Given the description of an element on the screen output the (x, y) to click on. 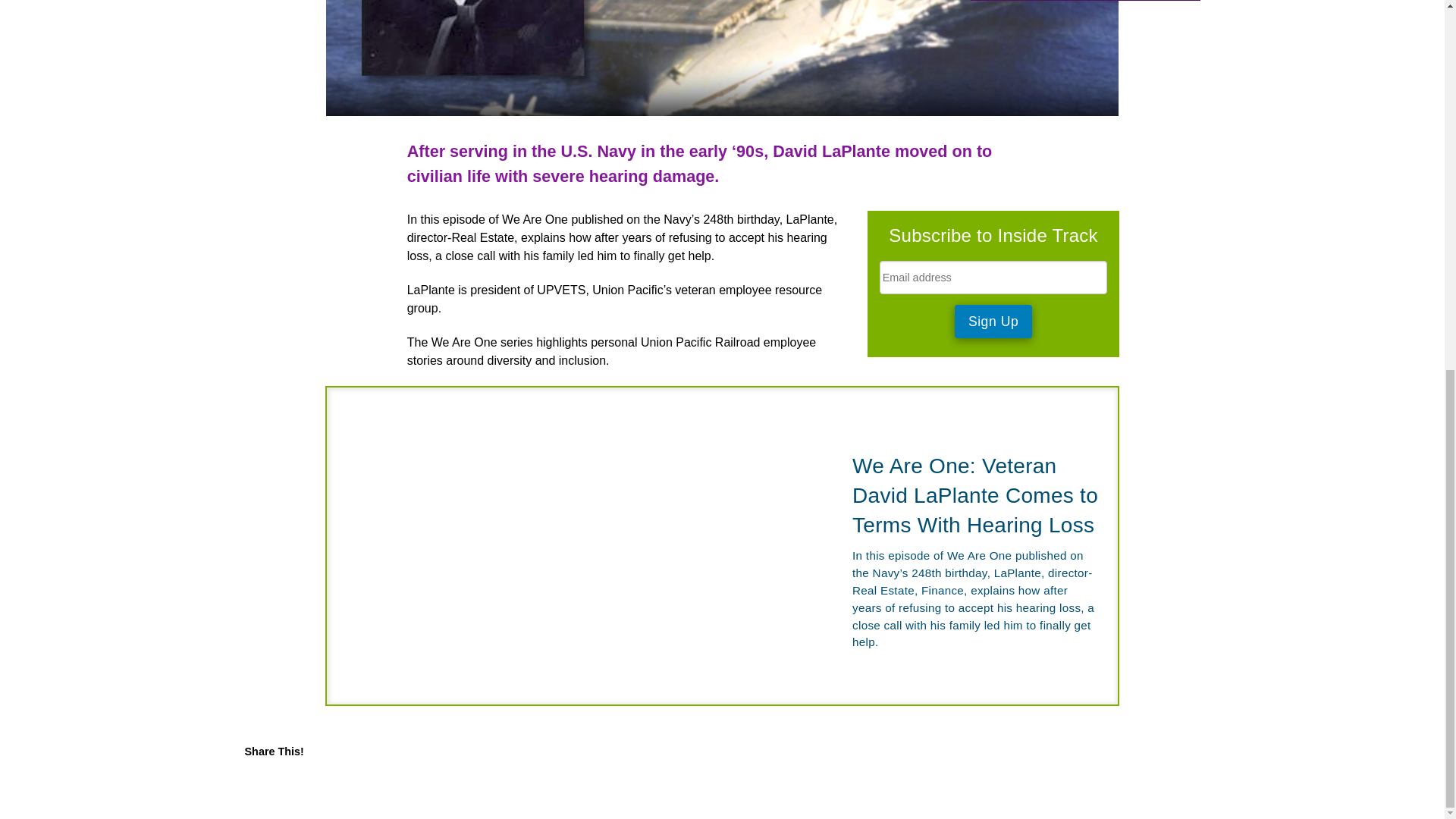
Sign Up (992, 321)
Sign Up (992, 321)
